Given the description of an element on the screen output the (x, y) to click on. 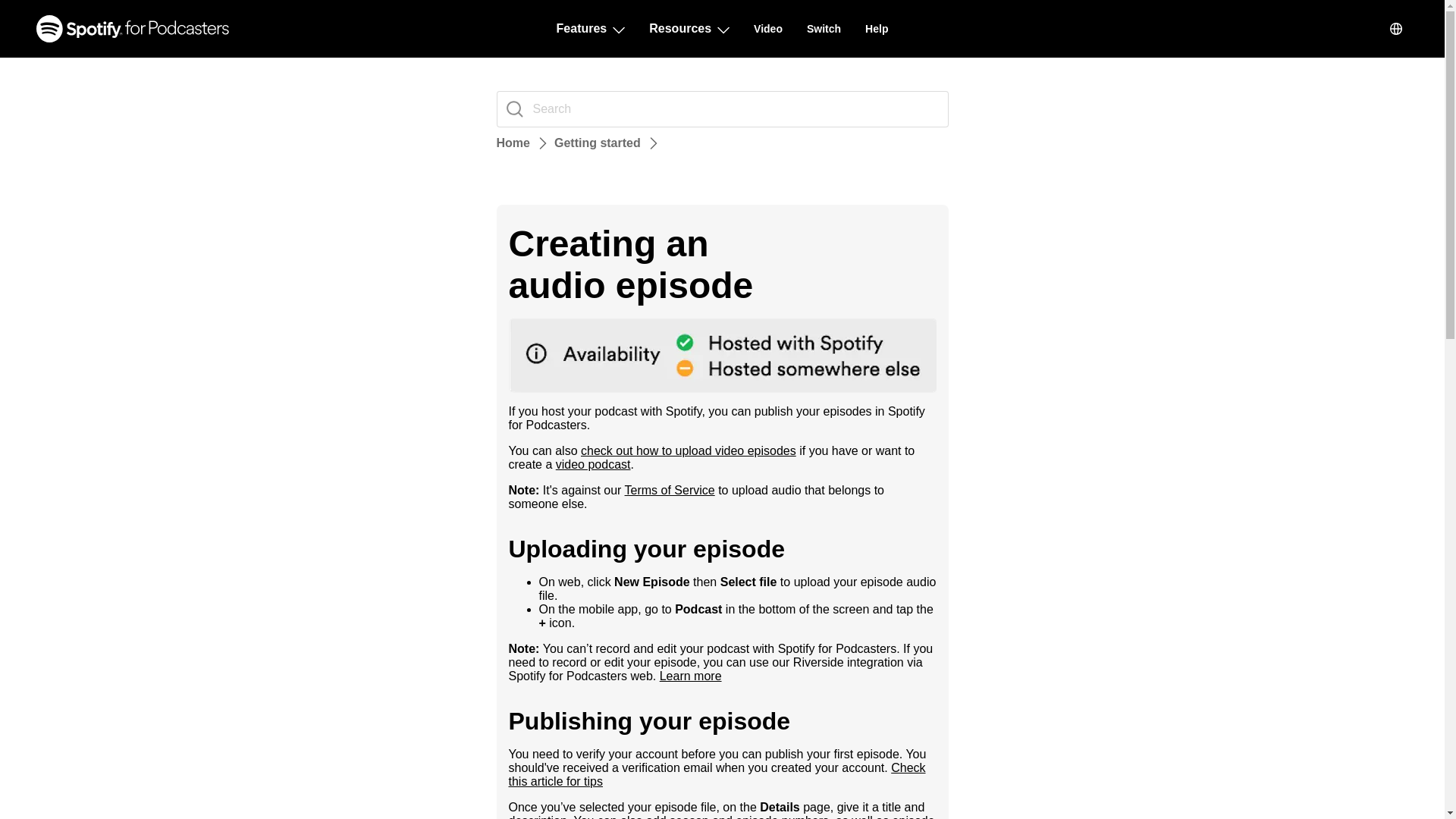
check out how to upload video episodes (688, 450)
Video (768, 28)
Resources (689, 29)
Getting started (597, 142)
Help (876, 28)
Switch (823, 28)
Check this article for tips (716, 774)
Terms of Service (669, 490)
Home (512, 142)
video podcast (593, 463)
Features (591, 29)
Learn more (690, 675)
Spotify for Podcasters (132, 28)
